Given the description of an element on the screen output the (x, y) to click on. 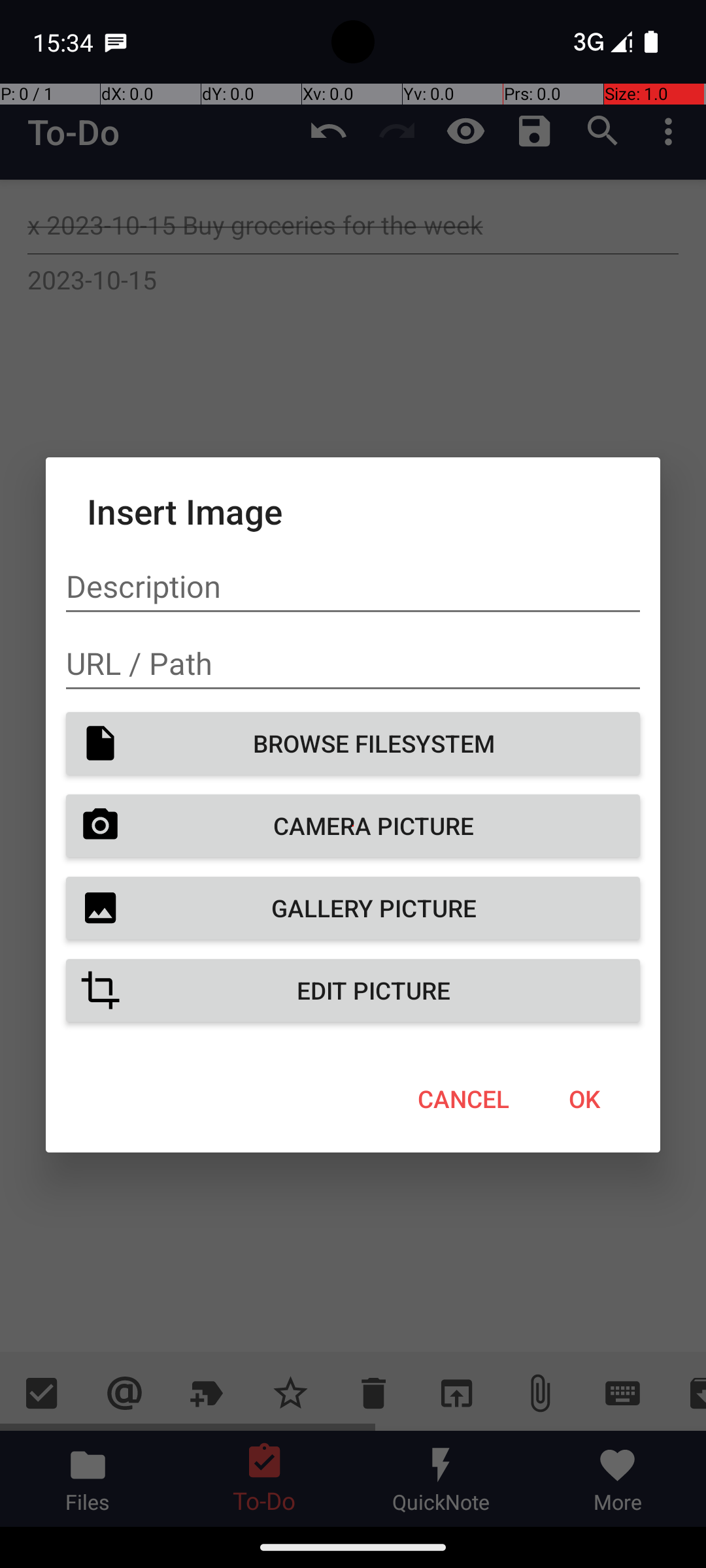
Insert Image Element type: android.widget.TextView (352, 511)
Description Element type: android.widget.EditText (352, 586)
URL / Path Element type: android.widget.EditText (352, 663)
BROWSE FILESYSTEM Element type: android.widget.Button (352, 743)
CAMERA PICTURE Element type: android.widget.Button (352, 825)
GALLERY PICTURE Element type: android.widget.Button (352, 907)
EDIT PICTURE Element type: android.widget.Button (352, 990)
